Given the description of an element on the screen output the (x, y) to click on. 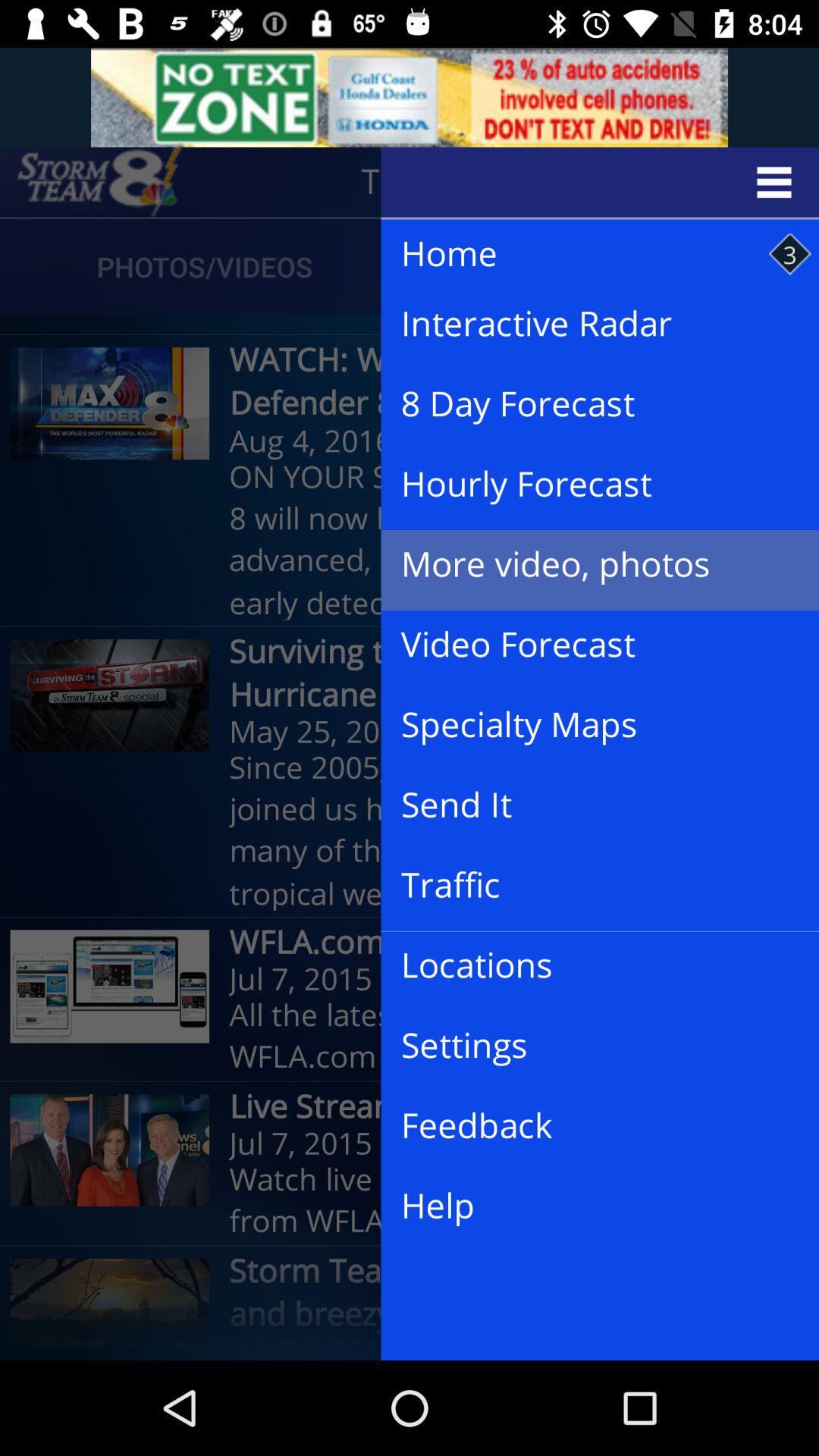
click the item above the interactive radar (584, 254)
